Given the description of an element on the screen output the (x, y) to click on. 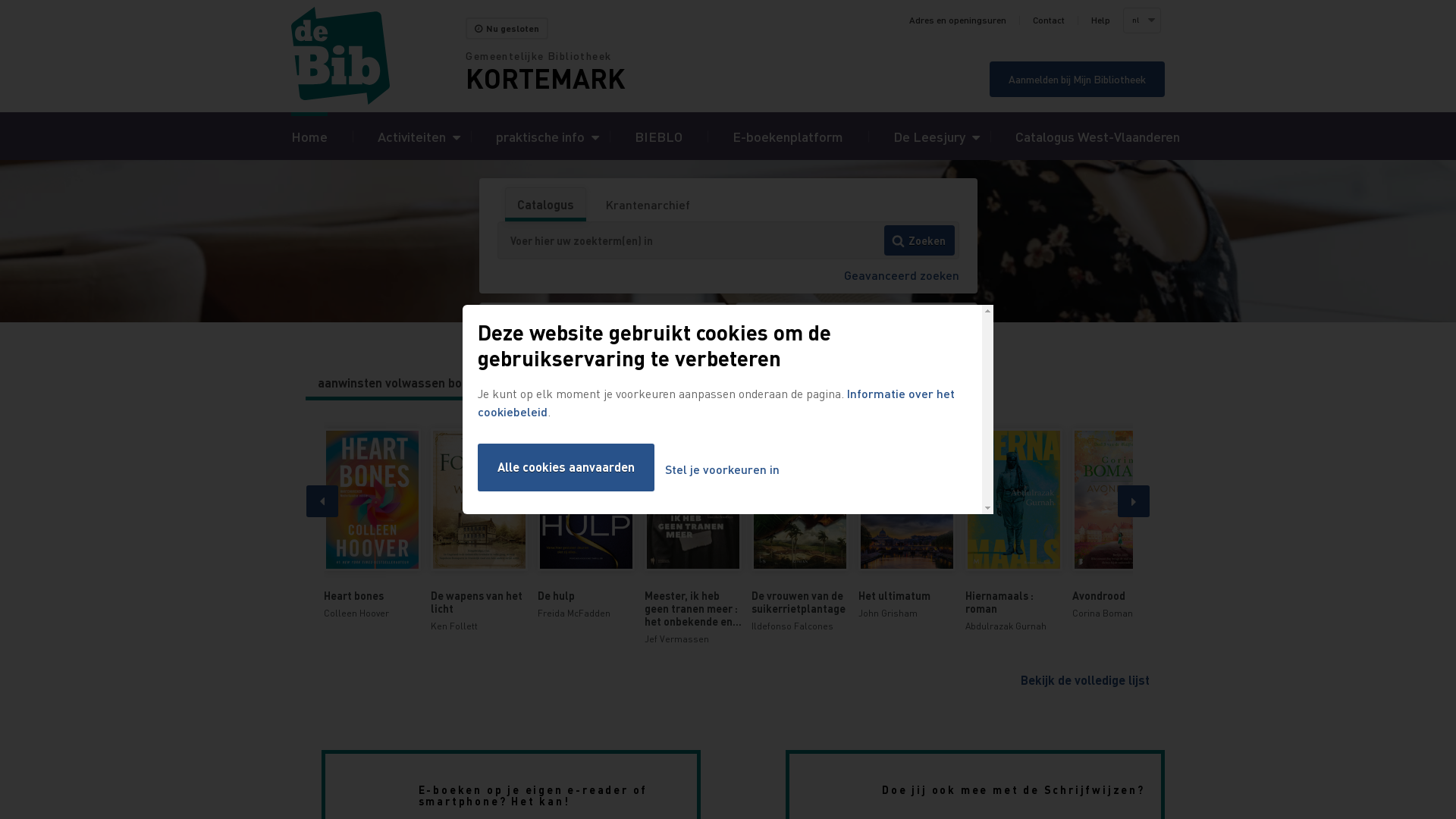
Contact Element type: text (1048, 20)
Aanmelden bij Mijn Bibliotheek Element type: text (1076, 79)
Uitleentermijn verlengen Element type: text (603, 321)
Bekijk de volledige lijst Element type: text (1084, 679)
Openingsuren opzoeken Element type: text (856, 321)
Hiernamaals : roman
Abdulrazak Gurnah Element type: text (1012, 530)
Adres en openingsuren Element type: text (957, 20)
Het ultimatum
John Grisham Element type: text (906, 524)
Home Element type: text (309, 136)
Nu gesloten Element type: text (506, 28)
BIEBLO Element type: text (658, 136)
aanwinsten CD's Element type: text (717, 382)
Alle cookies aanvaarden Element type: text (565, 466)
Krantenarchief Element type: text (647, 204)
Catalogus Element type: text (544, 204)
Avondrood
Corina Bomann Element type: text (1120, 524)
De hulp
Freida McFadden Element type: text (584, 524)
Heart bones
Colleen Hoover Element type: text (371, 524)
Stel je voorkeuren in Element type: text (722, 469)
E-boekenplatform Element type: text (787, 136)
Overslaan en naar zoeken gaan Element type: text (0, 0)
Help Element type: text (1100, 20)
Catalogus West-Vlaanderen Element type: text (1097, 136)
Informatie over het cookiebeleid Element type: text (715, 402)
aanwinsten volwassen boeken Element type: text (403, 382)
Home Element type: hover (378, 55)
nl Element type: text (1140, 20)
aanwinsten DVD's Element type: text (834, 382)
aanwinsten jeugdboeken Element type: text (580, 382)
De vrouwen van de suikerrietplantage
Ildefonso Falcones Element type: text (798, 530)
De wapens van het licht
Ken Follett Element type: text (478, 530)
Zoeken Element type: text (919, 240)
Geavanceerd zoeken Element type: text (900, 274)
